Given the description of an element on the screen output the (x, y) to click on. 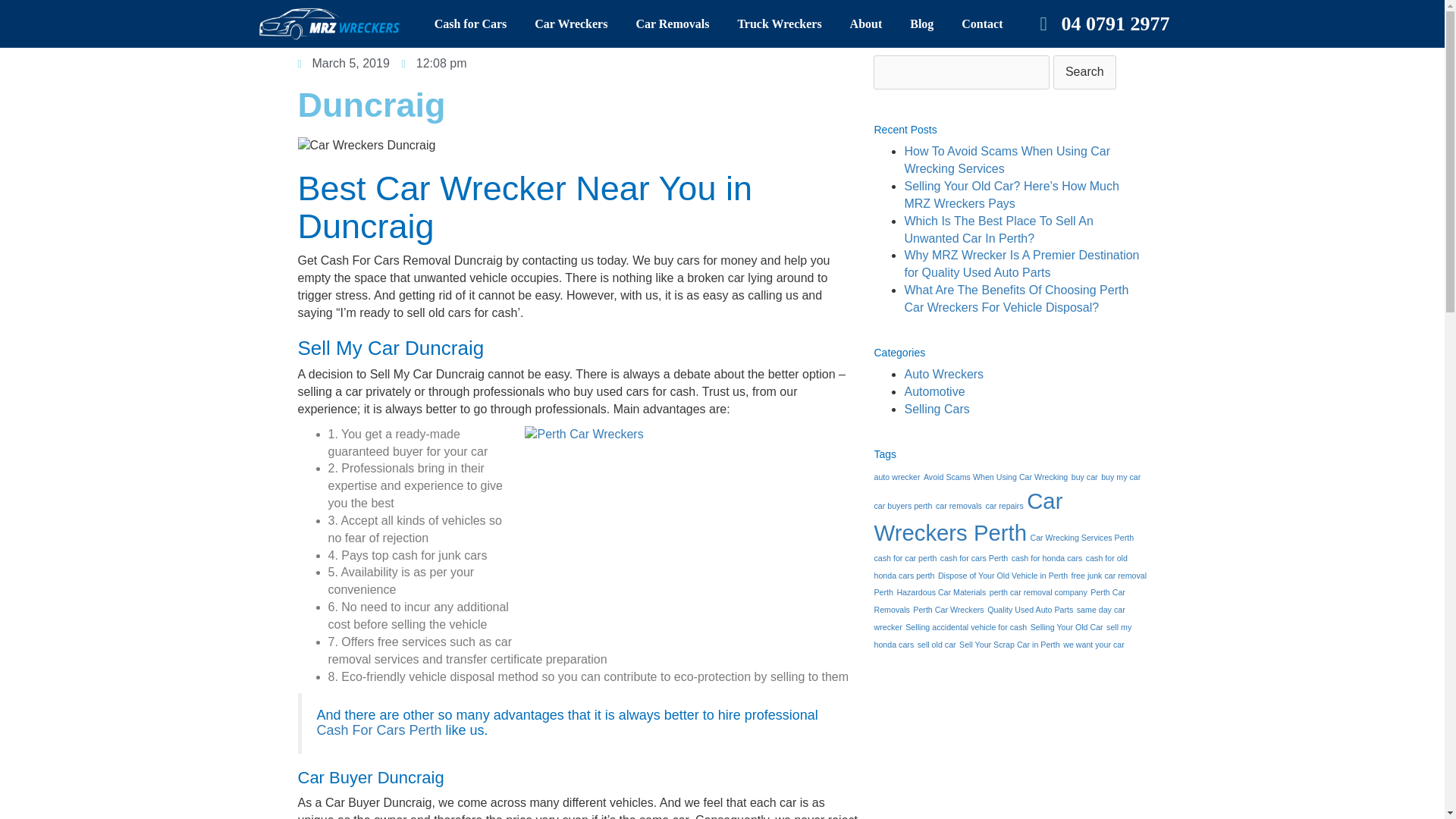
Car Removals (671, 23)
Car Wreckers (570, 23)
Which Is The Best Place To Sell An Unwanted Car In Perth? (998, 229)
About (866, 23)
Truck Wreckers (778, 23)
March 5, 2019 (342, 63)
Cash For Cars Perth (379, 729)
Search (1084, 72)
Auto Wreckers (944, 373)
Go to home page (335, 23)
Blog (921, 23)
How To Avoid Scams When Using Car Wrecking Services (1006, 159)
Contact (982, 23)
